Given the description of an element on the screen output the (x, y) to click on. 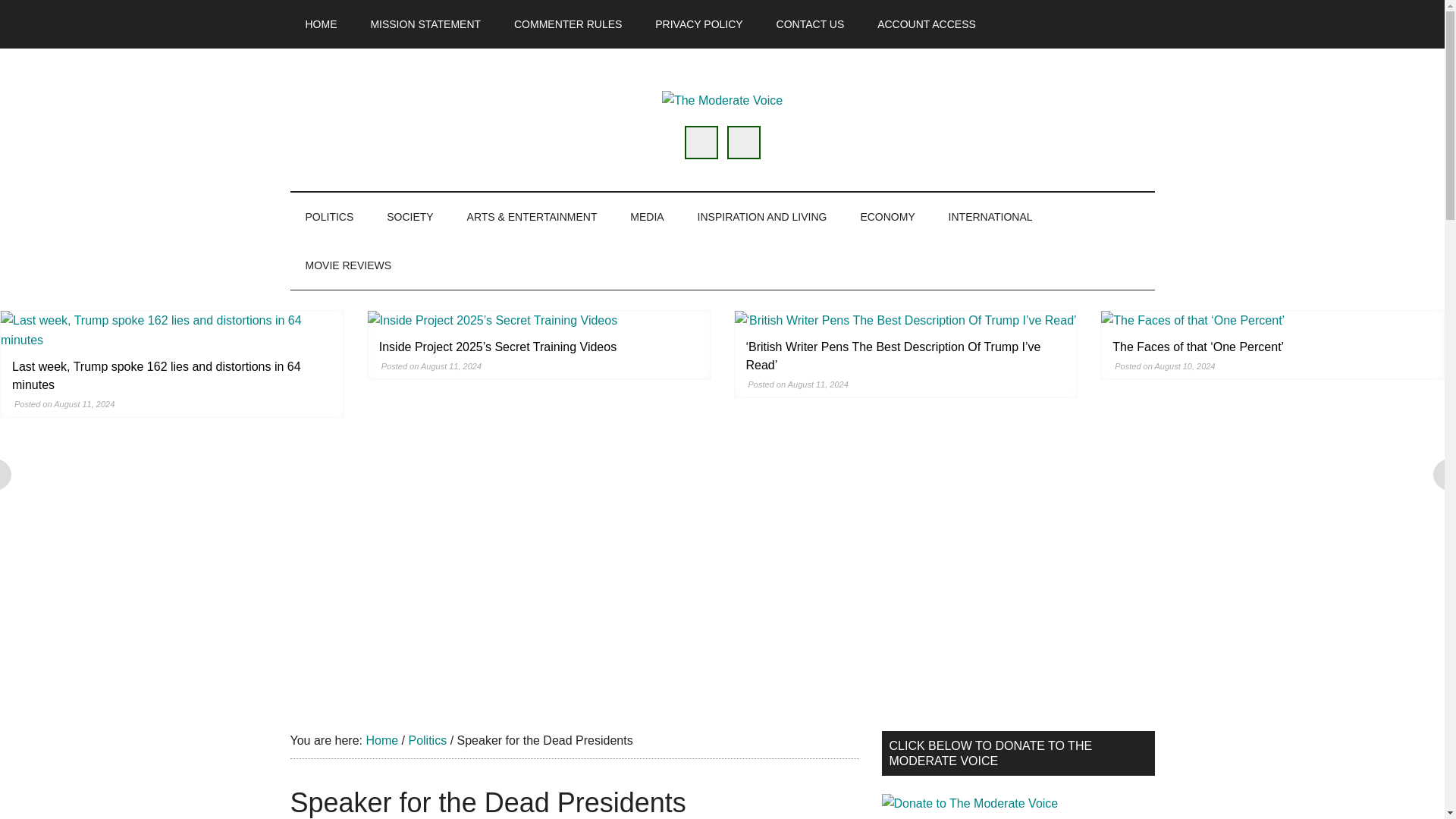
ACCOUNT ACCESS (926, 24)
INSPIRATION AND LIVING (762, 216)
MEDIA (646, 216)
MOVIE REVIEWS (347, 264)
CONTACT US (810, 24)
MISSION STATEMENT (425, 24)
ECONOMY (887, 216)
POLITICS (328, 216)
HOME (320, 24)
COMMENTER RULES (568, 24)
